Given the description of an element on the screen output the (x, y) to click on. 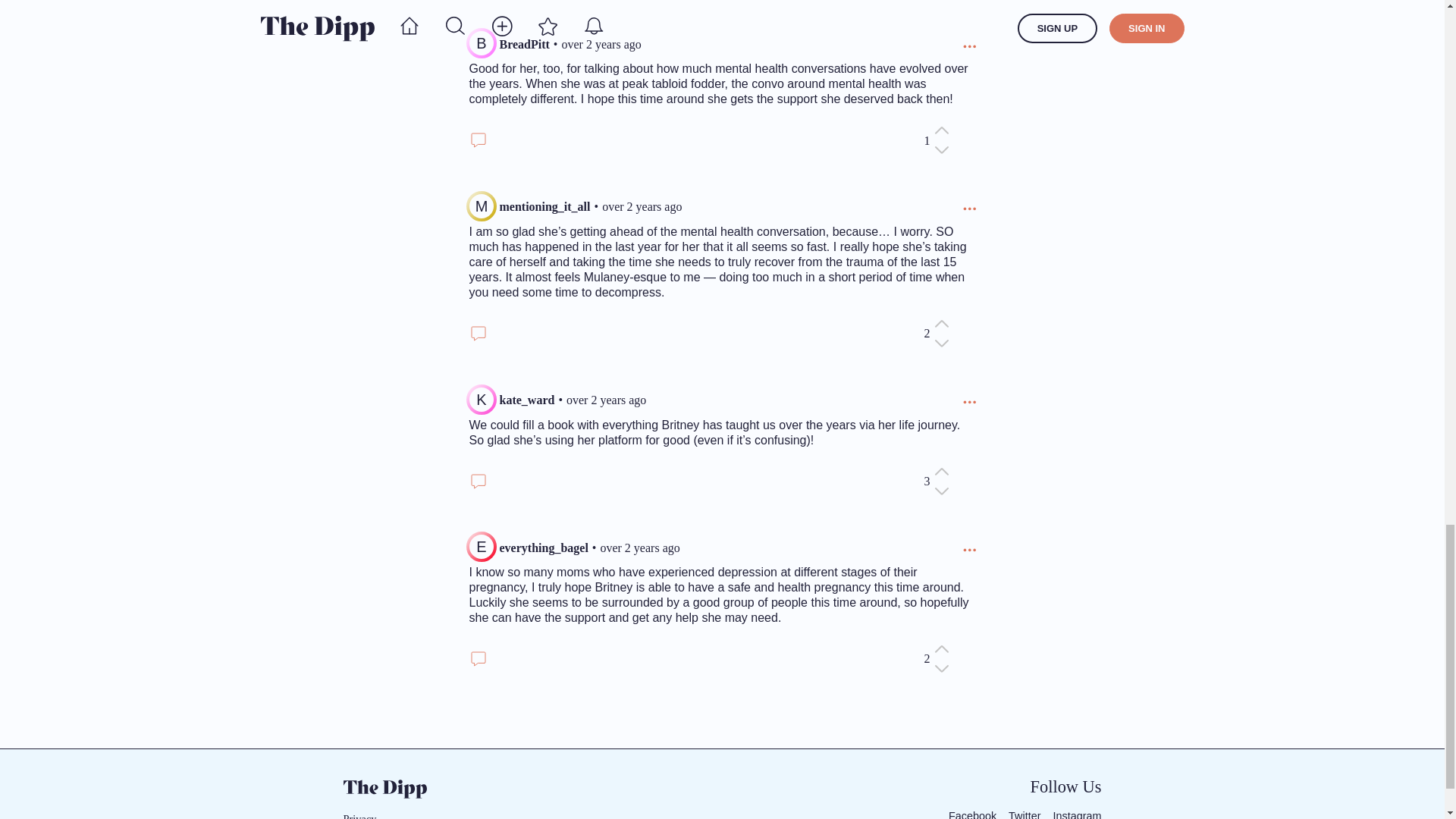
over 2 years ago (600, 44)
B (481, 42)
BreadPitt (523, 44)
